Given the description of an element on the screen output the (x, y) to click on. 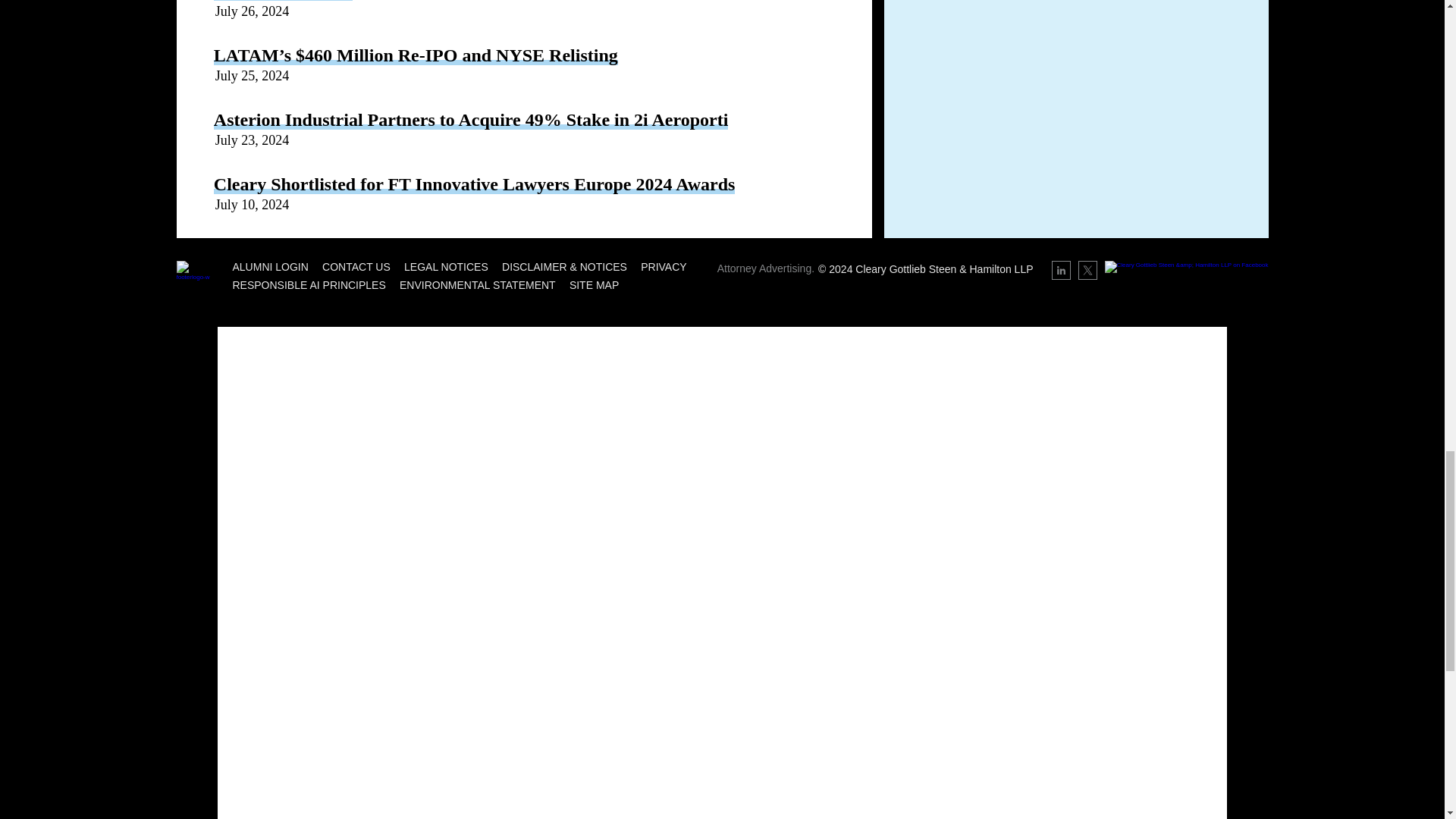
Environmental Statement (477, 285)
Legal Notices (445, 266)
Responsible AI Principles (308, 285)
Privacy (662, 266)
Alumni Login (269, 266)
Site Map (593, 285)
Contact Us (355, 266)
